Given the description of an element on the screen output the (x, y) to click on. 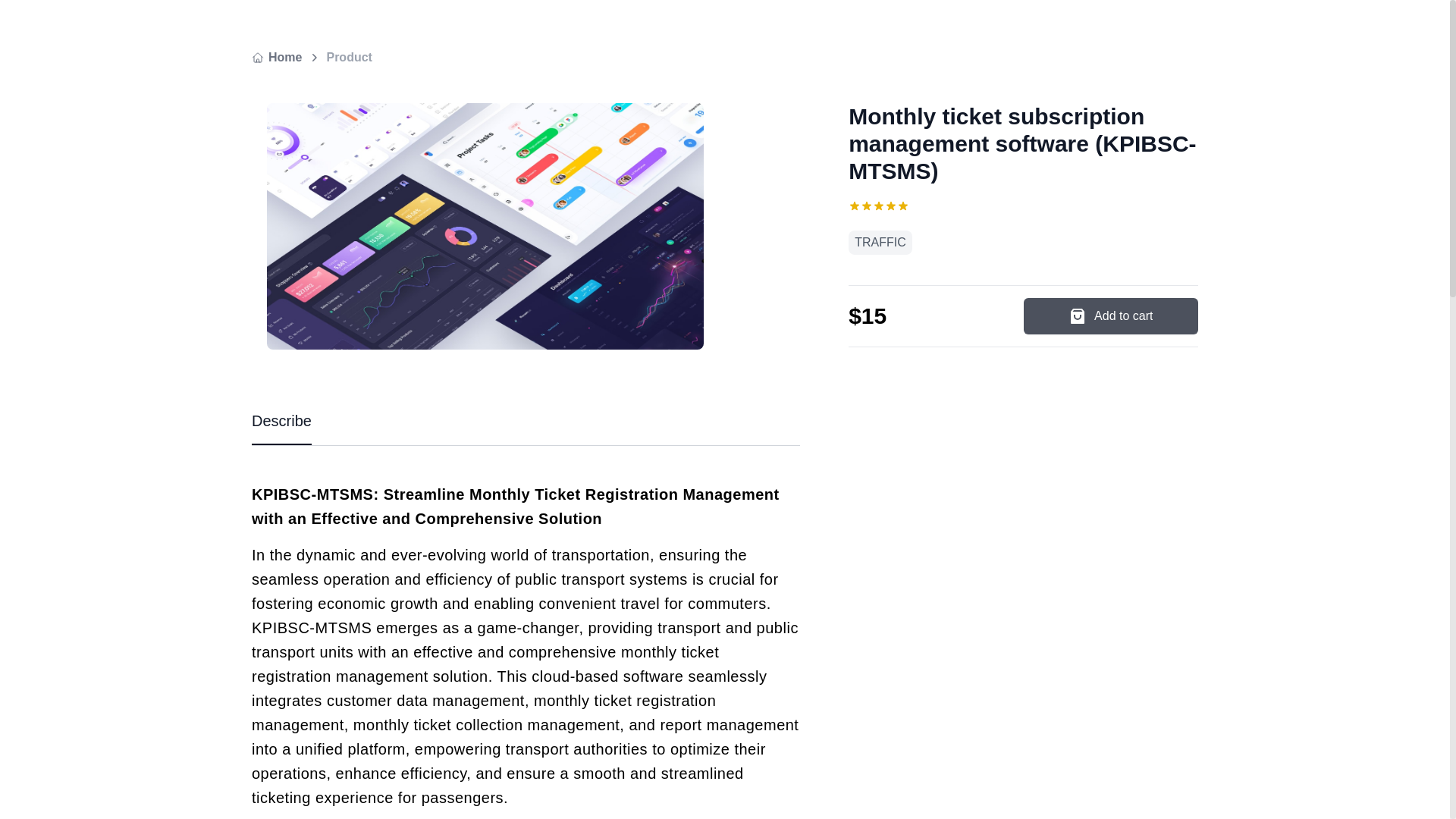
Add to cart (1110, 316)
Home (276, 57)
Product (348, 57)
TRAFFIC (880, 242)
